Given the description of an element on the screen output the (x, y) to click on. 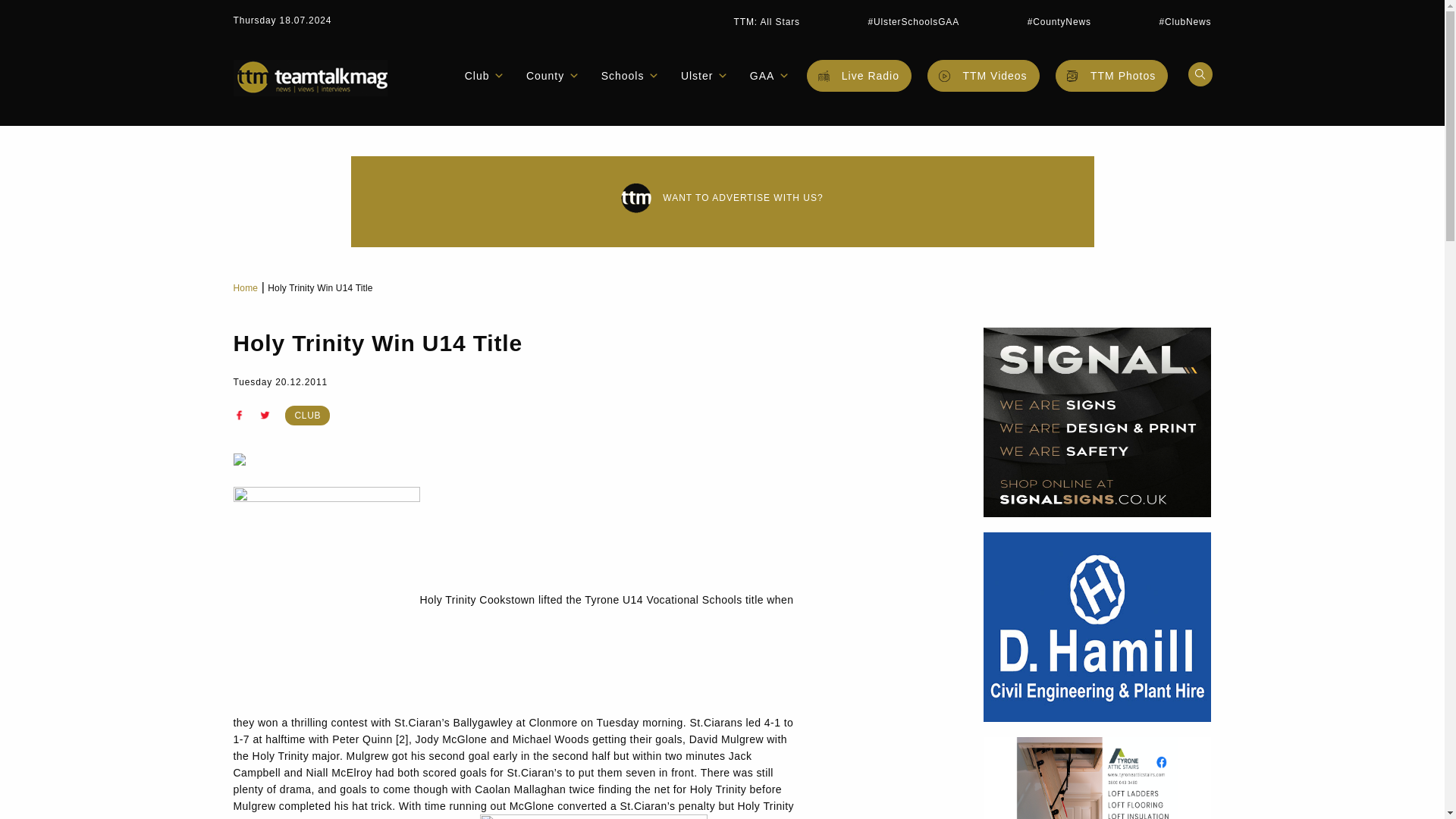
TeamTalk Mag (309, 76)
Tyrone-Vocational-Schools-U-14-final-2 (593, 816)
Tyrone-Vocational-Schools-U-14-final-1 (326, 600)
